Given the description of an element on the screen output the (x, y) to click on. 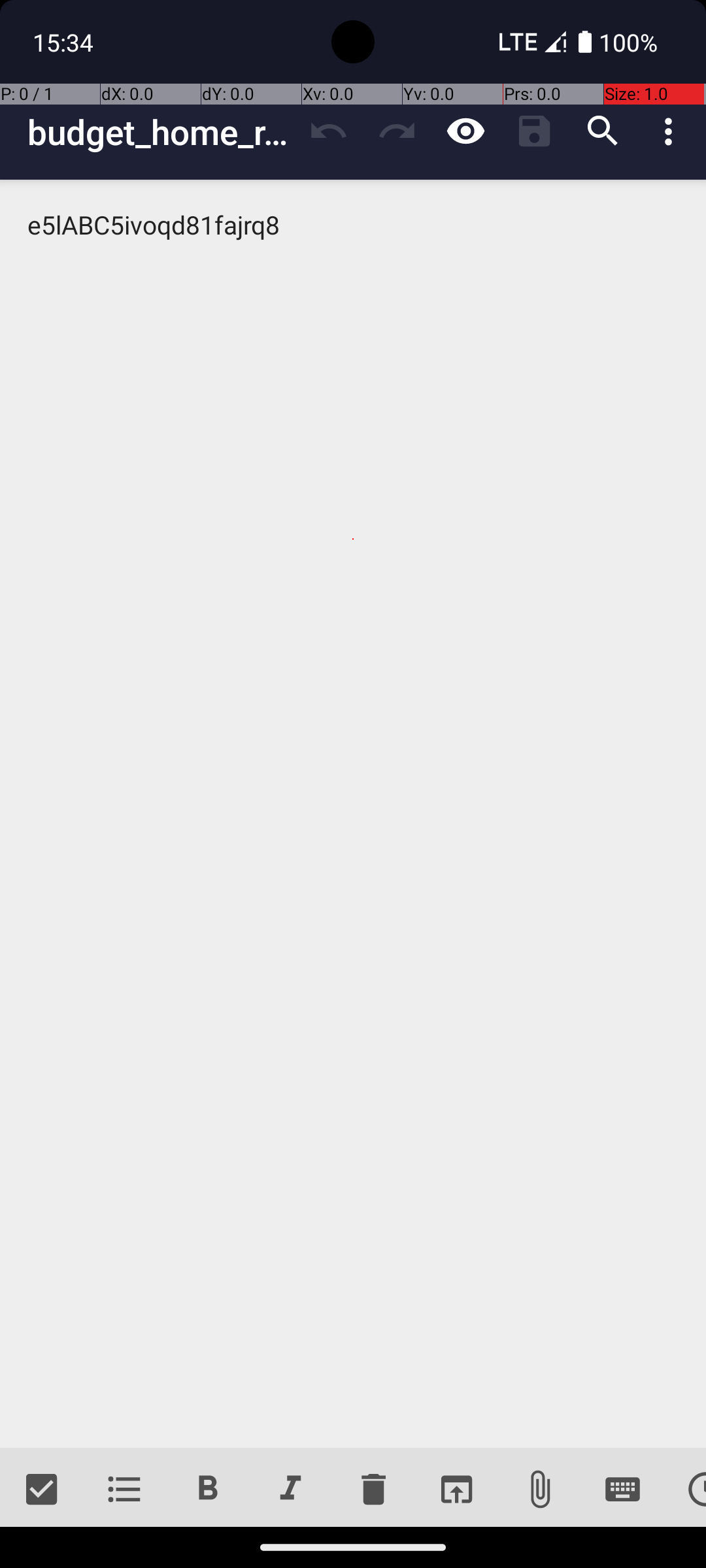
budget_home_renovation_copy Element type: android.widget.TextView (160, 131)
e5lABC5ivoqd81fajrq8
 Element type: android.widget.EditText (353, 813)
